Given the description of an element on the screen output the (x, y) to click on. 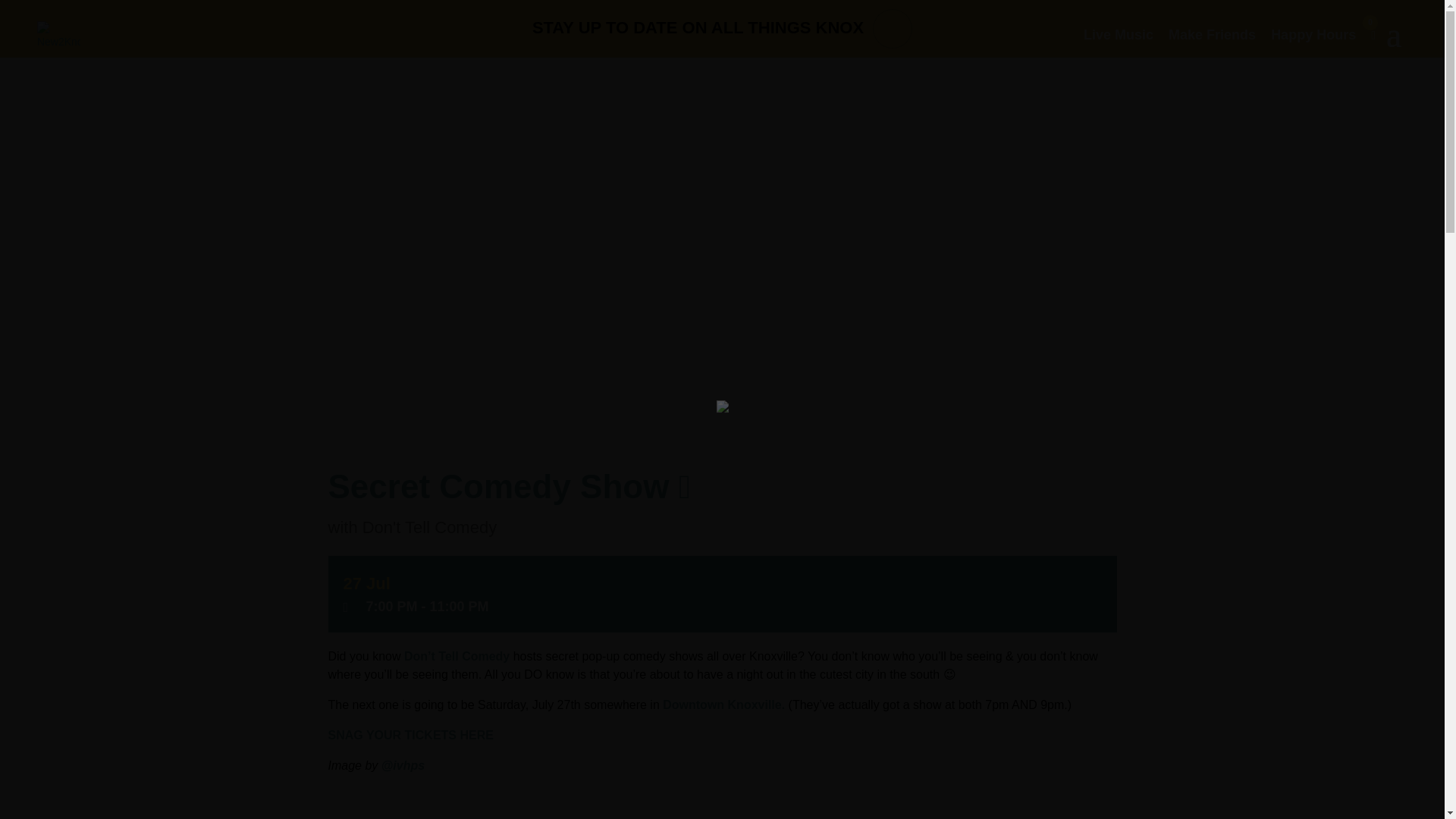
Live Music (1118, 34)
SNAG YOUR TICKETS HERE (410, 735)
Downtown Knoxville. (721, 704)
Happy Hours (1313, 34)
Make Friends (1212, 34)
